Given the description of an element on the screen output the (x, y) to click on. 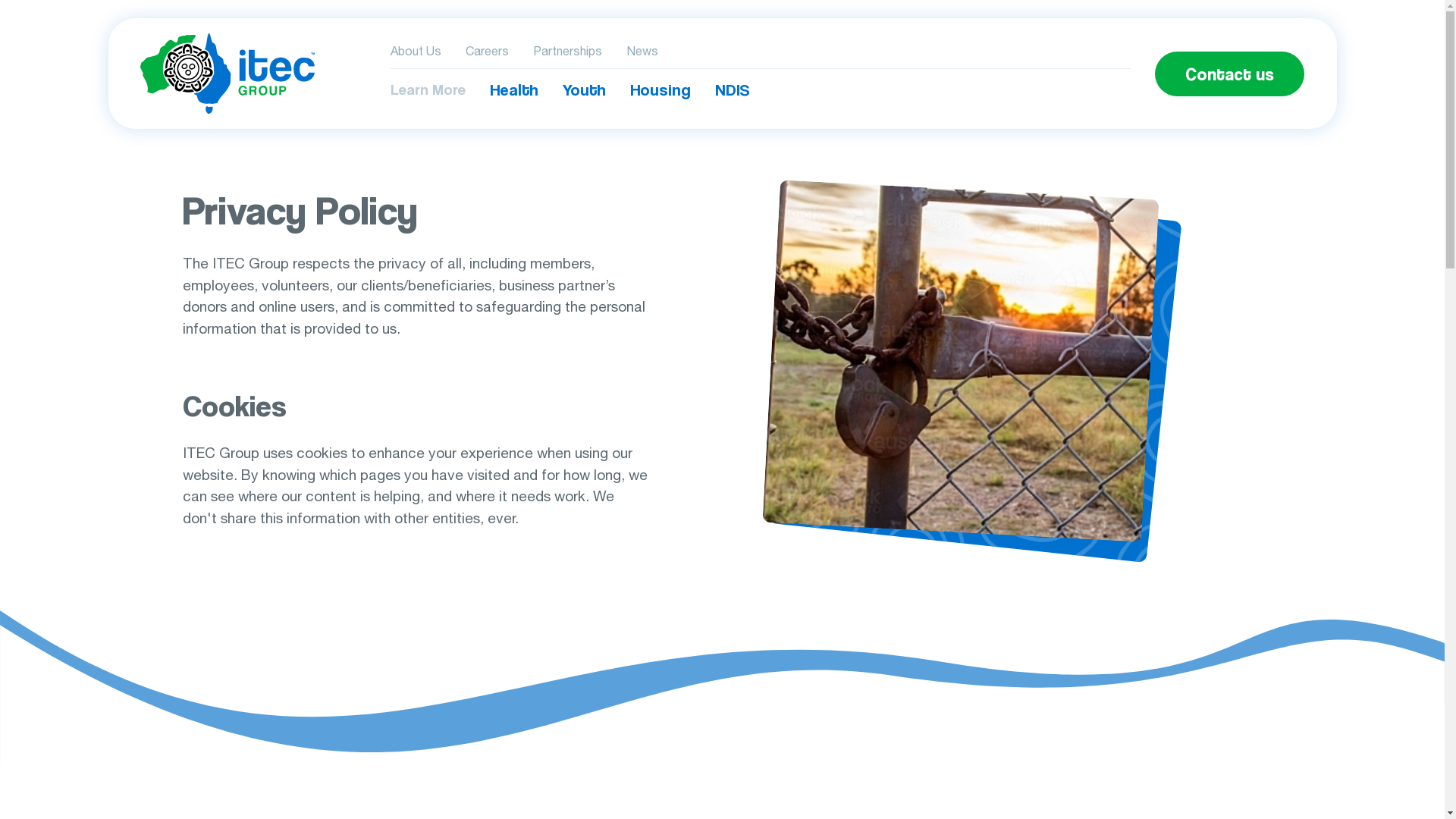
Youth Element type: text (584, 89)
Contact us Element type: text (1229, 73)
Health Element type: text (513, 89)
Partnerships Element type: text (567, 52)
News Element type: text (642, 52)
Housing Element type: text (660, 89)
NDIS Element type: text (732, 89)
About Us Element type: text (421, 52)
Careers Element type: text (486, 52)
